Given the description of an element on the screen output the (x, y) to click on. 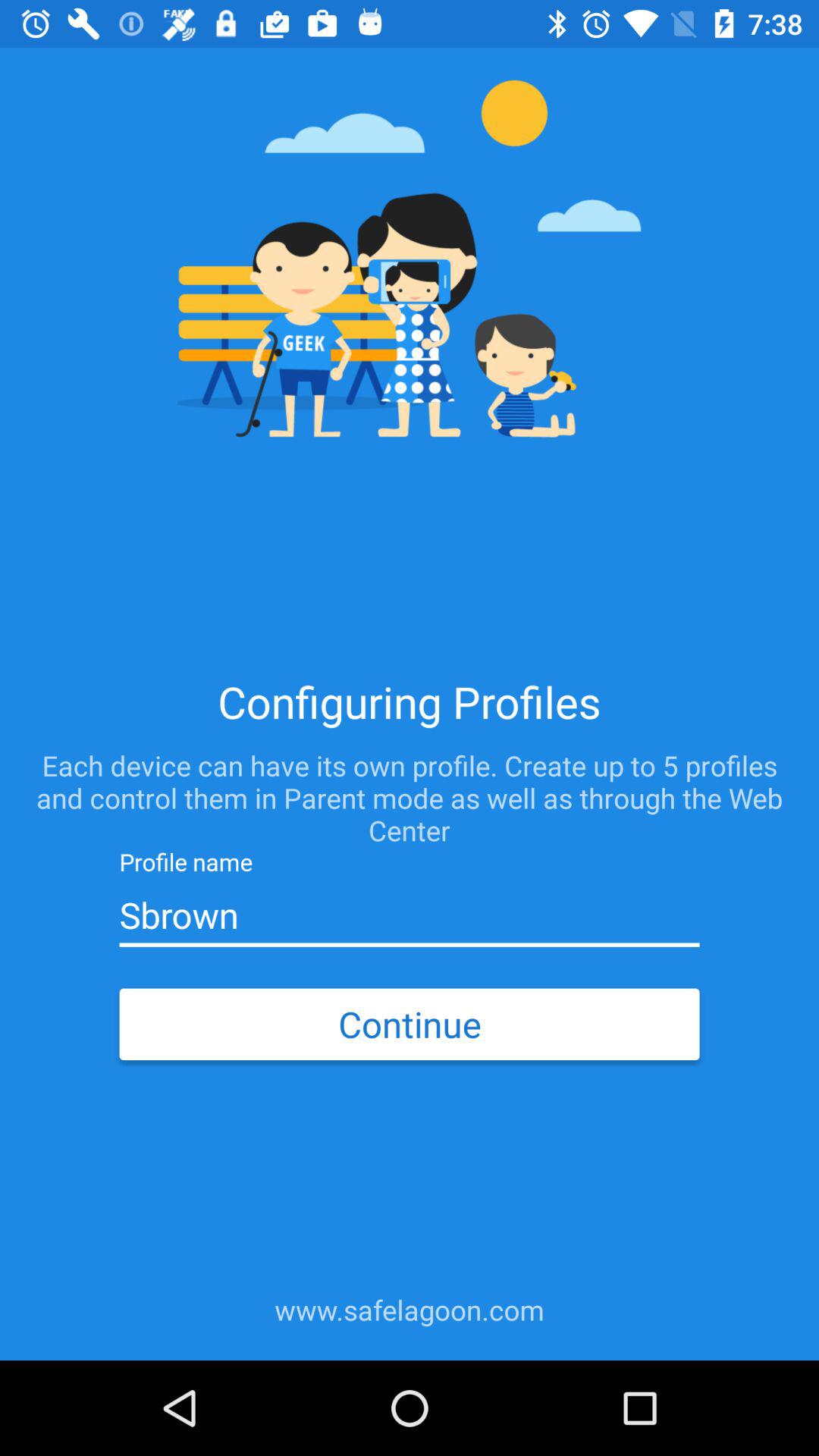
jump until the continue icon (409, 1024)
